Given the description of an element on the screen output the (x, y) to click on. 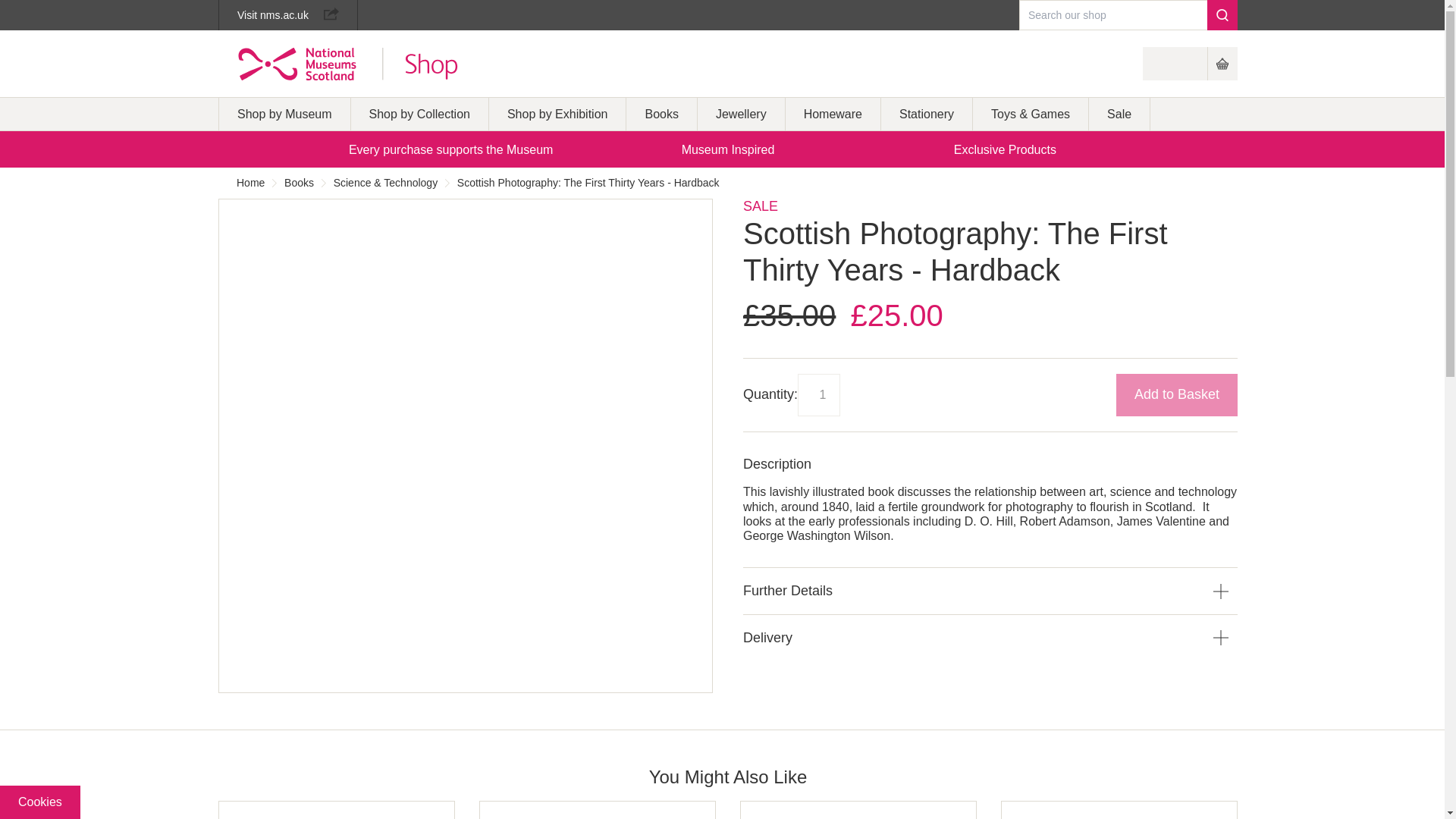
Visit nms.ac.uk (288, 15)
Visit nms.ac.uk (288, 15)
search (1222, 15)
1 (818, 394)
